Given the description of an element on the screen output the (x, y) to click on. 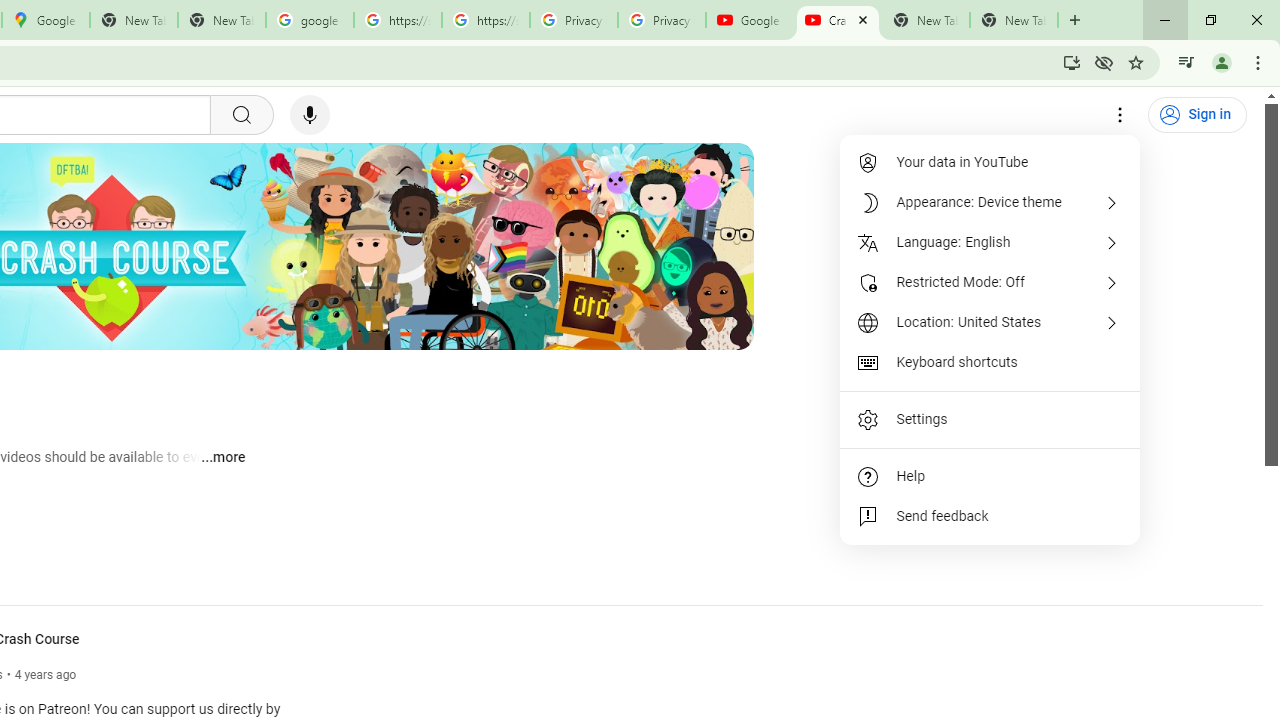
https://scholar.google.com/ (397, 20)
Restricted Mode: Off (989, 282)
Keyboard shortcuts (989, 362)
Google - YouTube (749, 20)
https://scholar.google.com/ (485, 20)
Send feedback (989, 516)
Install YouTube (1071, 62)
Search with your voice (309, 115)
